Given the description of an element on the screen output the (x, y) to click on. 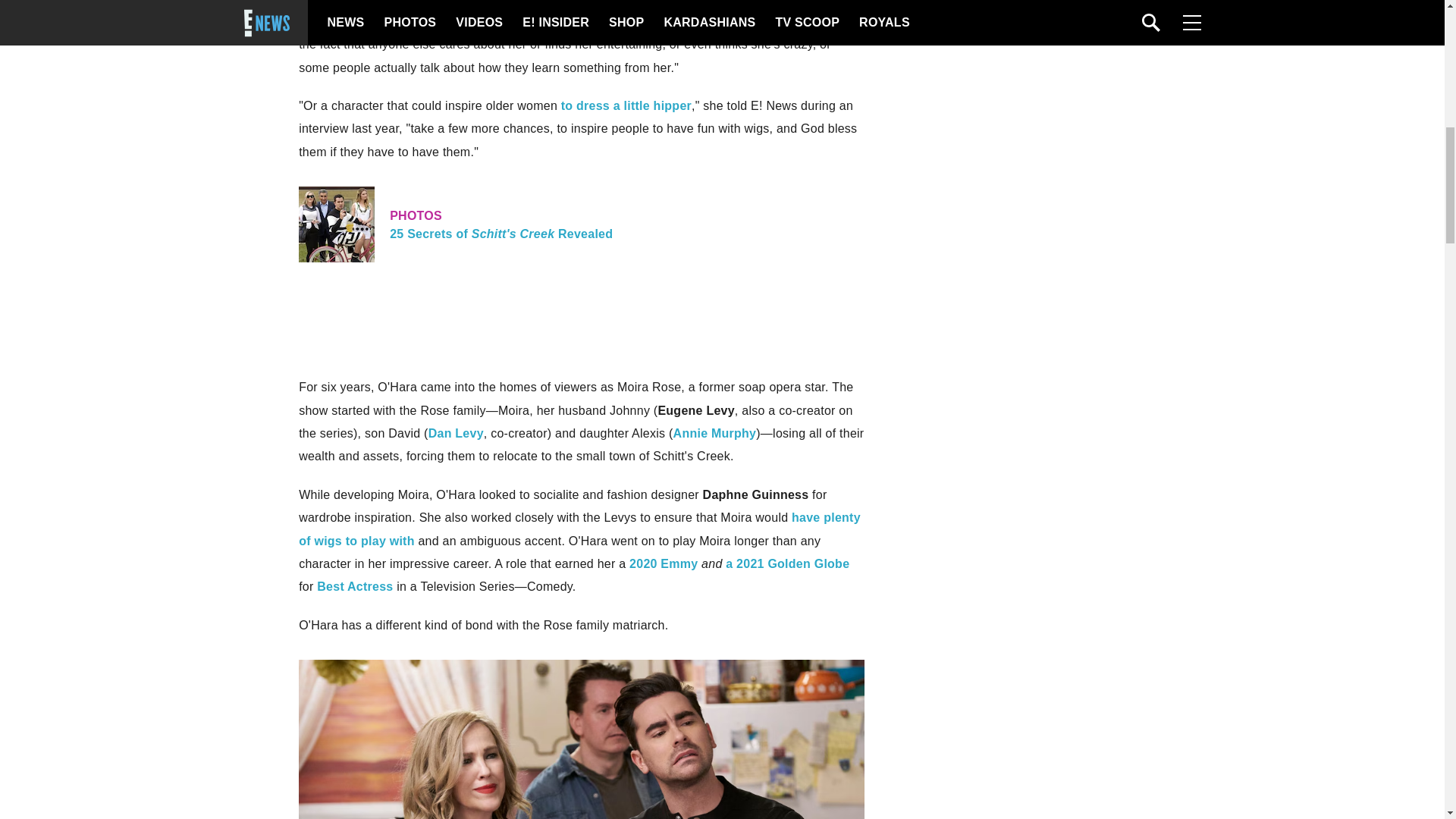
a 2021 Golden Globe (786, 563)
Dan Levy (455, 432)
Annie Murphy (714, 432)
2020 Emmy (581, 224)
Best Actress (662, 563)
to dress a little hipper (355, 585)
have plenty of wigs to play with (625, 105)
